Given the description of an element on the screen output the (x, y) to click on. 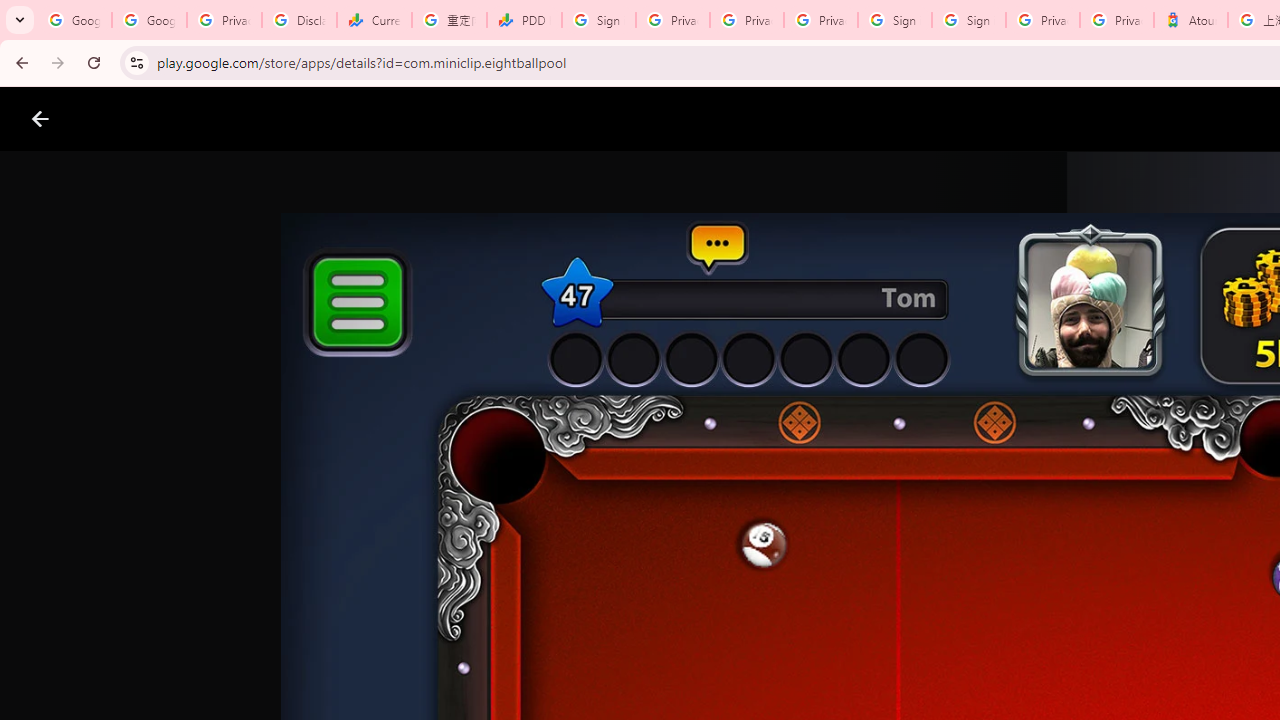
PDD Holdings Inc - ADR (PDD) Price & News - Google Finance (523, 20)
More info about this content rating (1013, 678)
Games (248, 119)
Privacy Checkup (747, 20)
Sign in - Google Accounts (894, 20)
Atour Hotel - Google hotels (1190, 20)
Apps (321, 119)
